Given the description of an element on the screen output the (x, y) to click on. 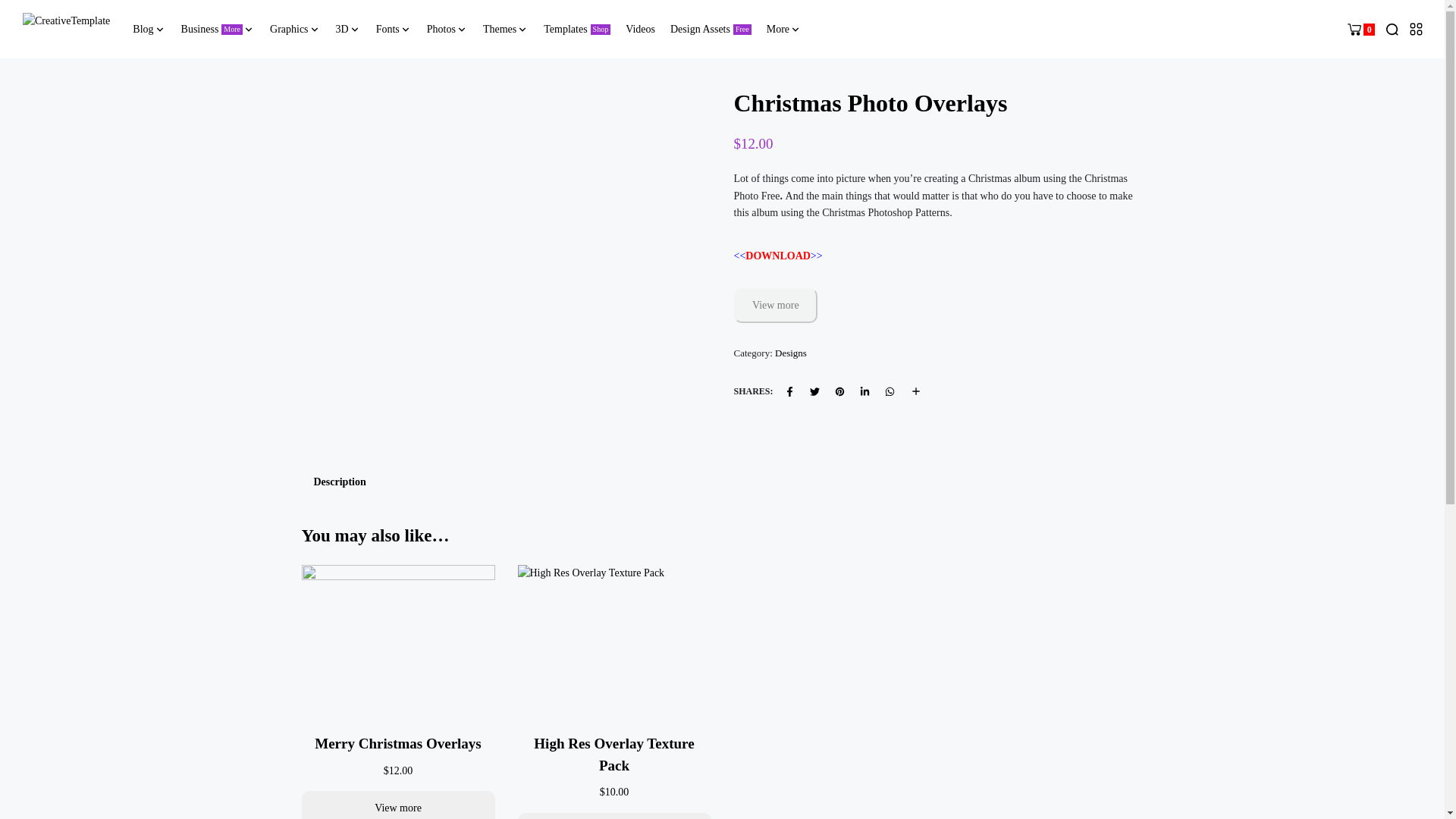
High Res Overlay Texture Pack (614, 754)
Cart (217, 29)
CreativeTemplate (1360, 28)
Merry Christmas Overlays (66, 29)
